Given the description of an element on the screen output the (x, y) to click on. 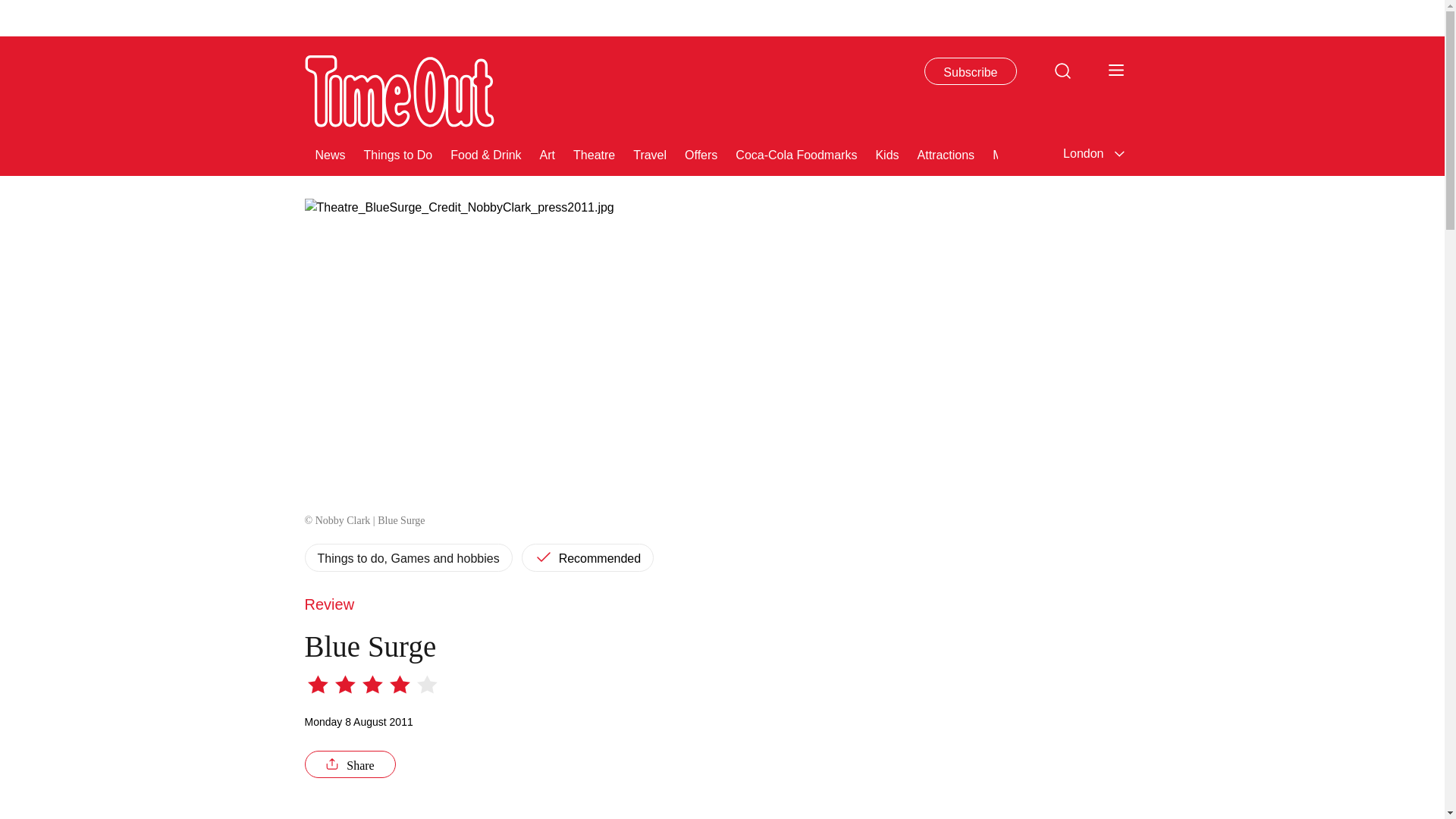
Theatre (593, 153)
Go to the content (10, 7)
Coca-Cola Foodmarks (796, 153)
Things to Do (397, 153)
News (330, 153)
Music (1120, 153)
Offers (700, 153)
Search (1061, 69)
Nightlife (1176, 153)
Travel (649, 153)
Hotels (1233, 153)
Museums (1018, 153)
Attractions (945, 153)
Subscribe (970, 71)
Feeling Spontaneous? (1329, 153)
